Given the description of an element on the screen output the (x, y) to click on. 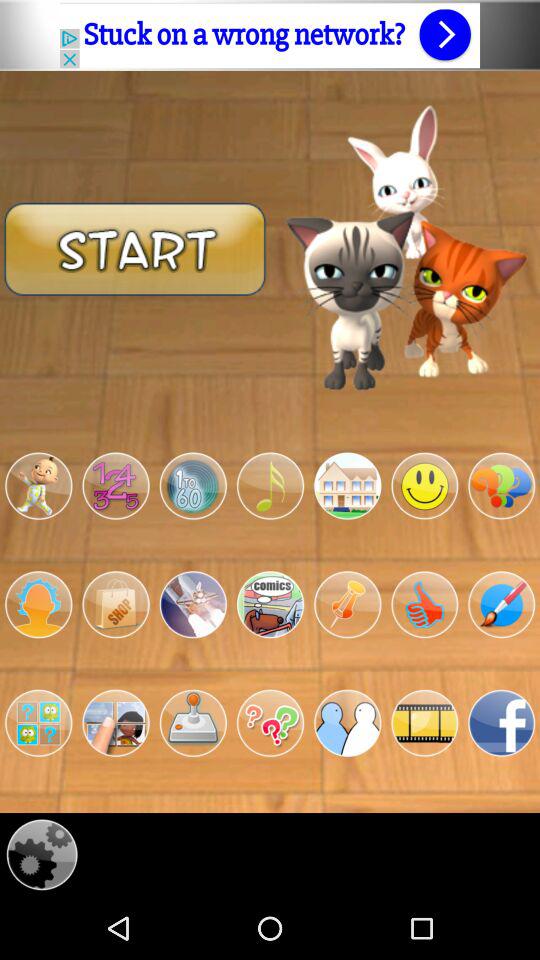
select game (192, 723)
